Given the description of an element on the screen output the (x, y) to click on. 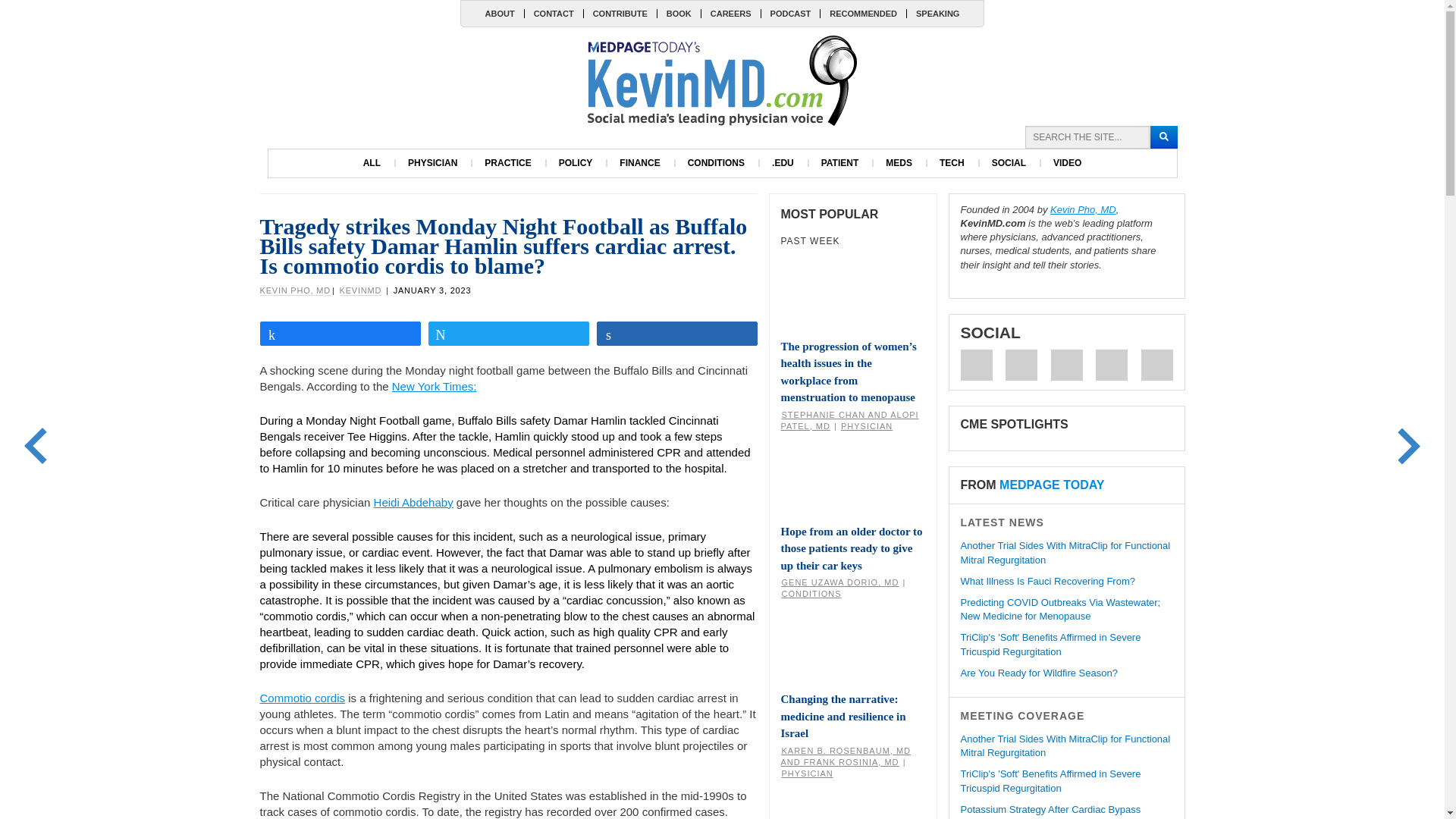
CONTRIBUTE (619, 13)
MEDS (899, 163)
TECH (952, 163)
.EDU (783, 163)
FINANCE (638, 163)
RECOMMENDED (862, 13)
POLICY (575, 163)
VIDEO (1066, 163)
ABOUT (500, 13)
CAREERS (730, 13)
